Given the description of an element on the screen output the (x, y) to click on. 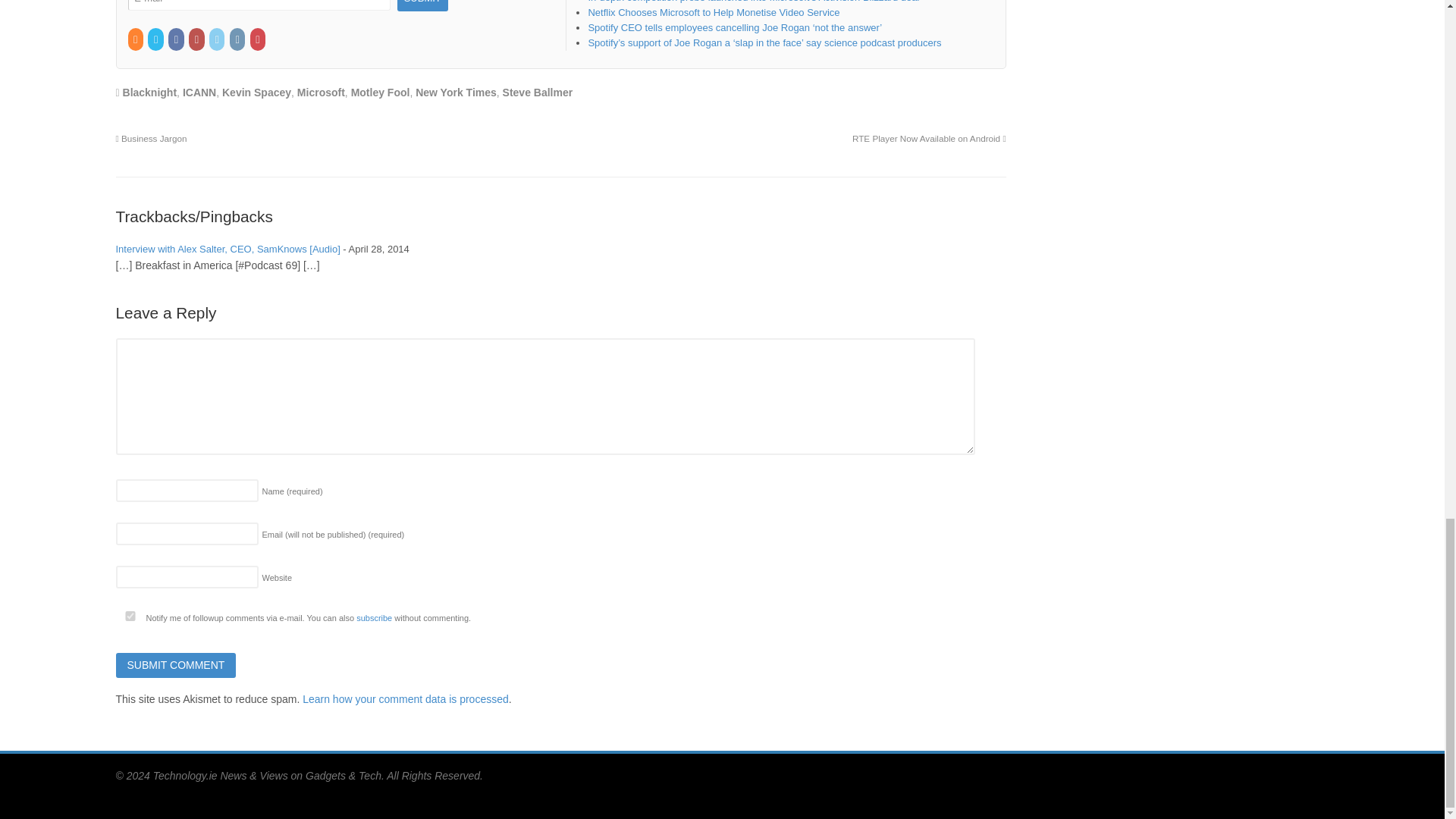
RSS (136, 39)
Submit (422, 5)
E-mail (259, 5)
YouTube (197, 39)
Twitter (156, 39)
Submit Comment (175, 665)
yes (129, 615)
Facebook (177, 39)
